Given the description of an element on the screen output the (x, y) to click on. 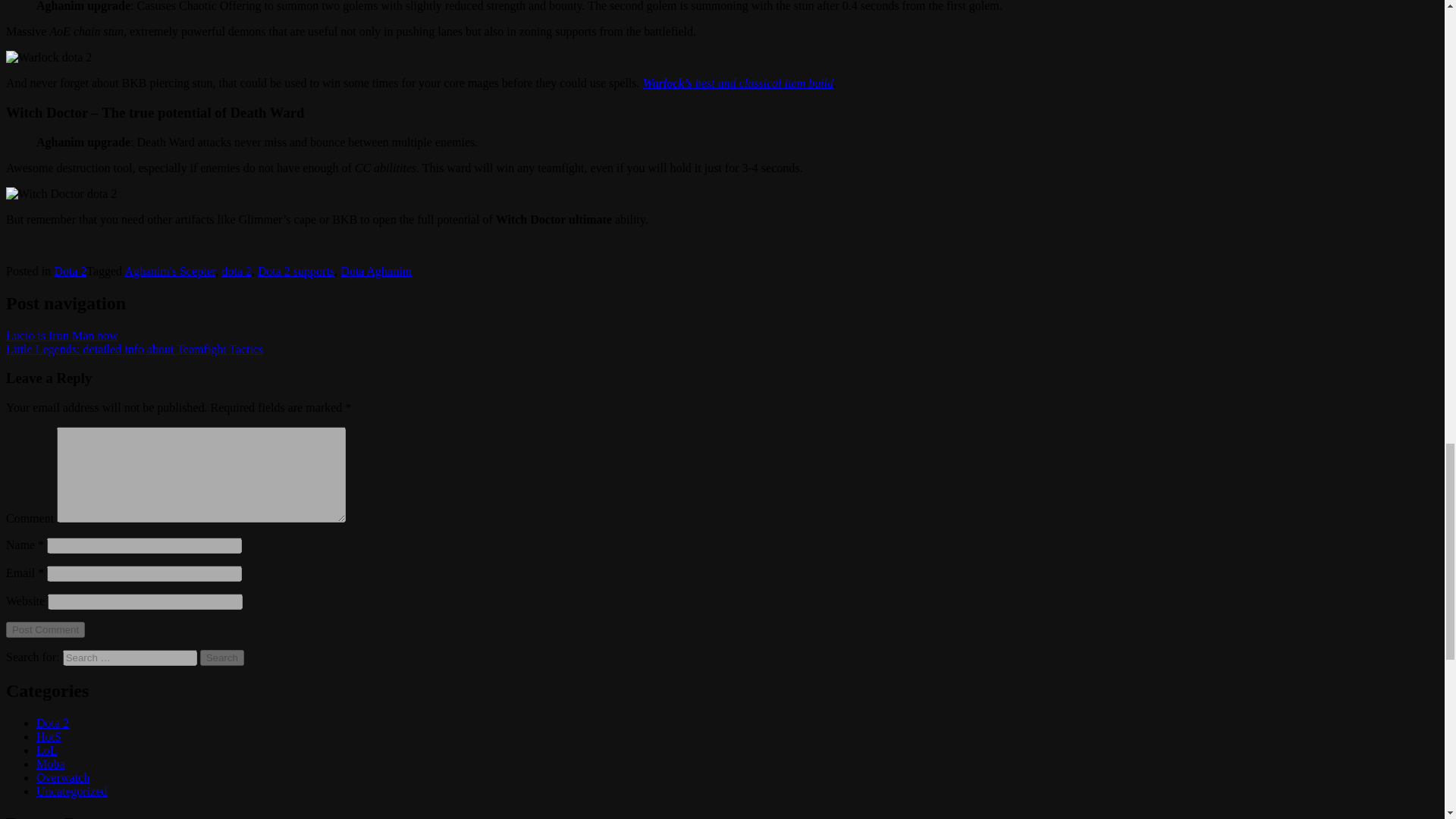
Search (222, 657)
Moba (50, 763)
Search (222, 657)
Search (222, 657)
Lucio is Iron Man now (61, 335)
Uncategorized (71, 790)
Post Comment (44, 629)
dota 2 (236, 270)
Dota 2 (69, 270)
LoL (47, 749)
Dota 2 (52, 722)
Dota Aghanim (376, 270)
Little Legends: detailed info about Teamfight Tactics (134, 349)
Dota 2 supports (295, 270)
Post Comment (44, 629)
